Given the description of an element on the screen output the (x, y) to click on. 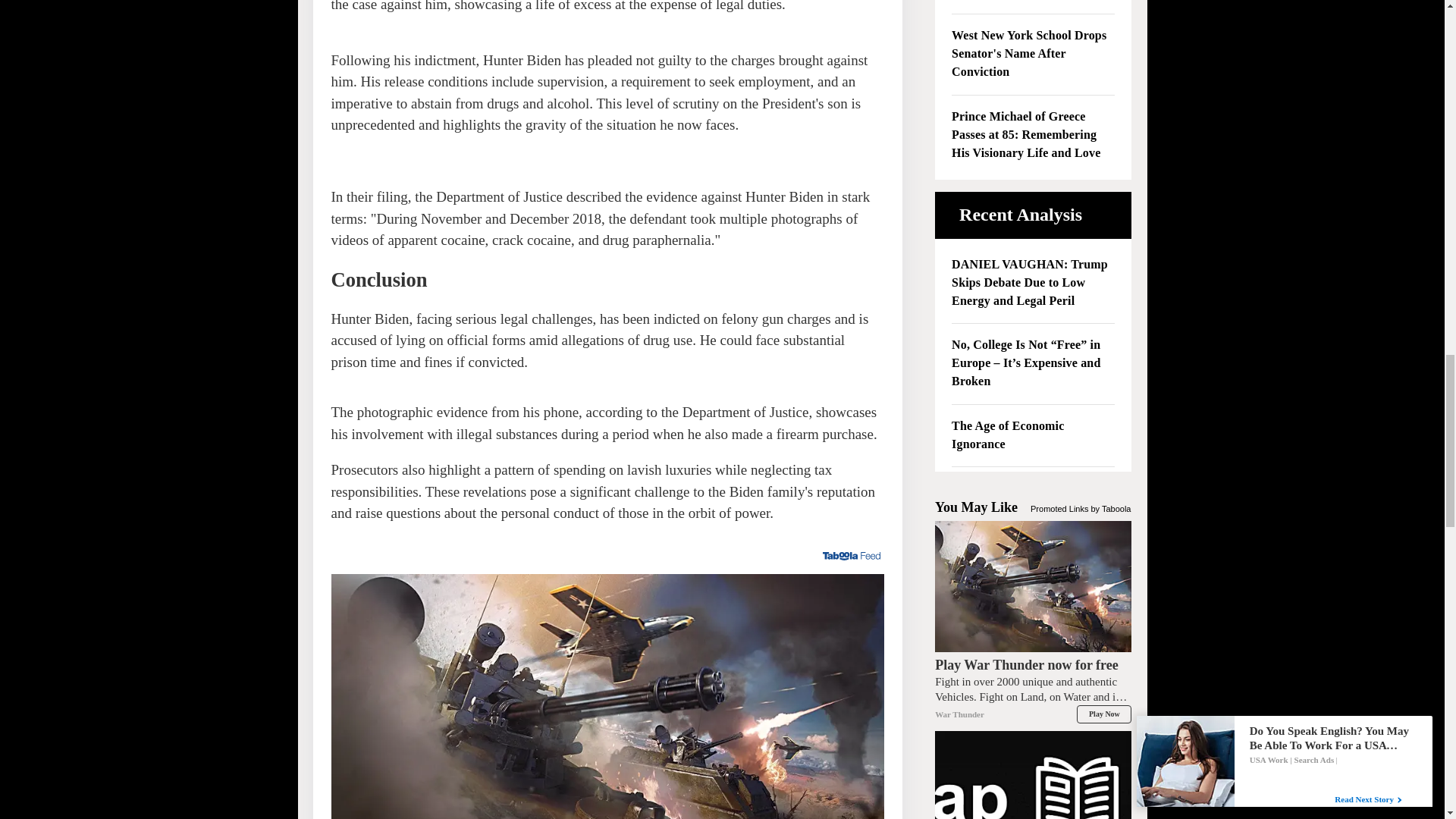
West New York School Drops Senator's Name After Conviction (1033, 54)
by Taboola (1110, 507)
The Age of Economic Ignorance (1033, 435)
